Given the description of an element on the screen output the (x, y) to click on. 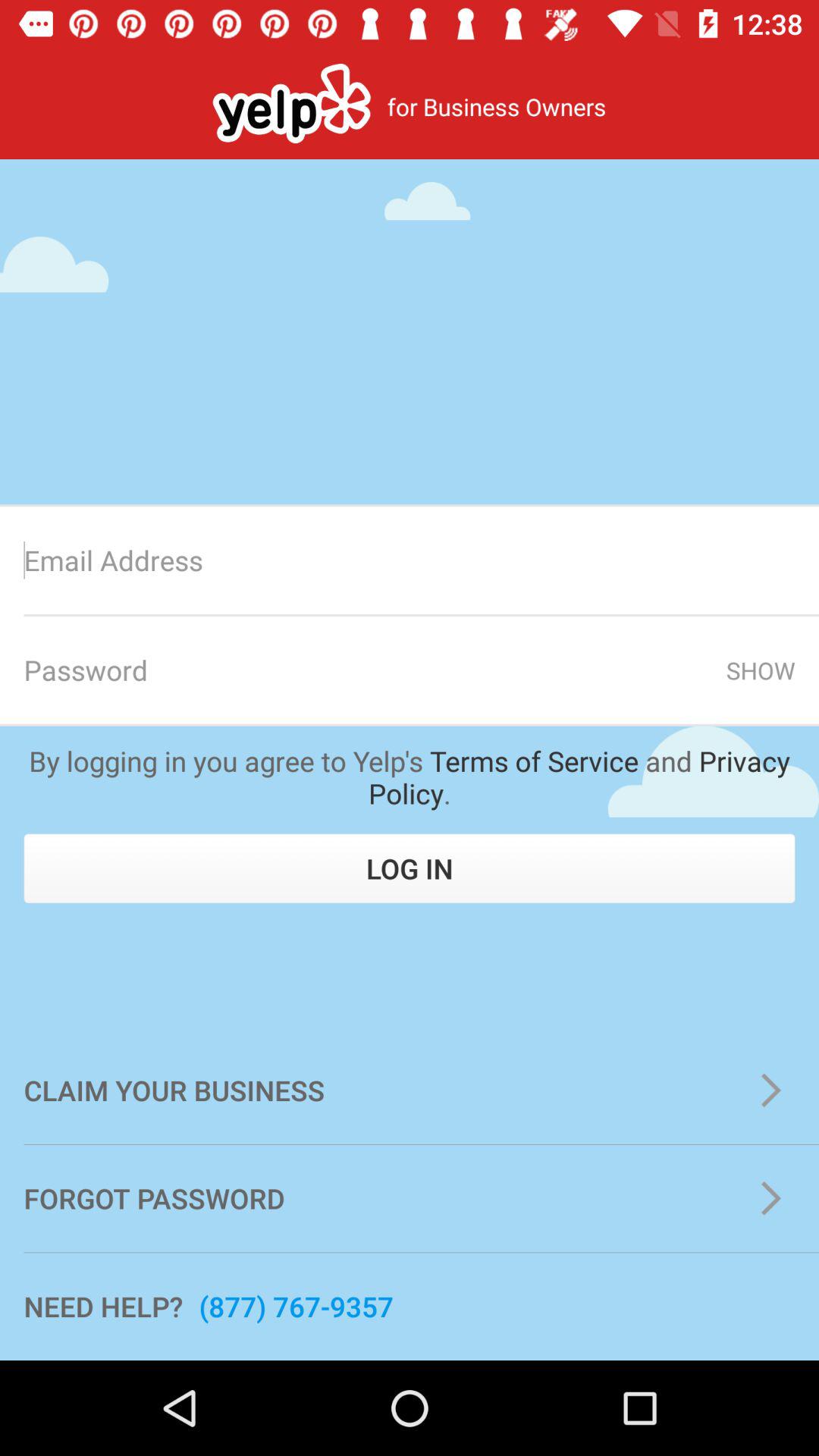
press by logging in item (409, 777)
